Given the description of an element on the screen output the (x, y) to click on. 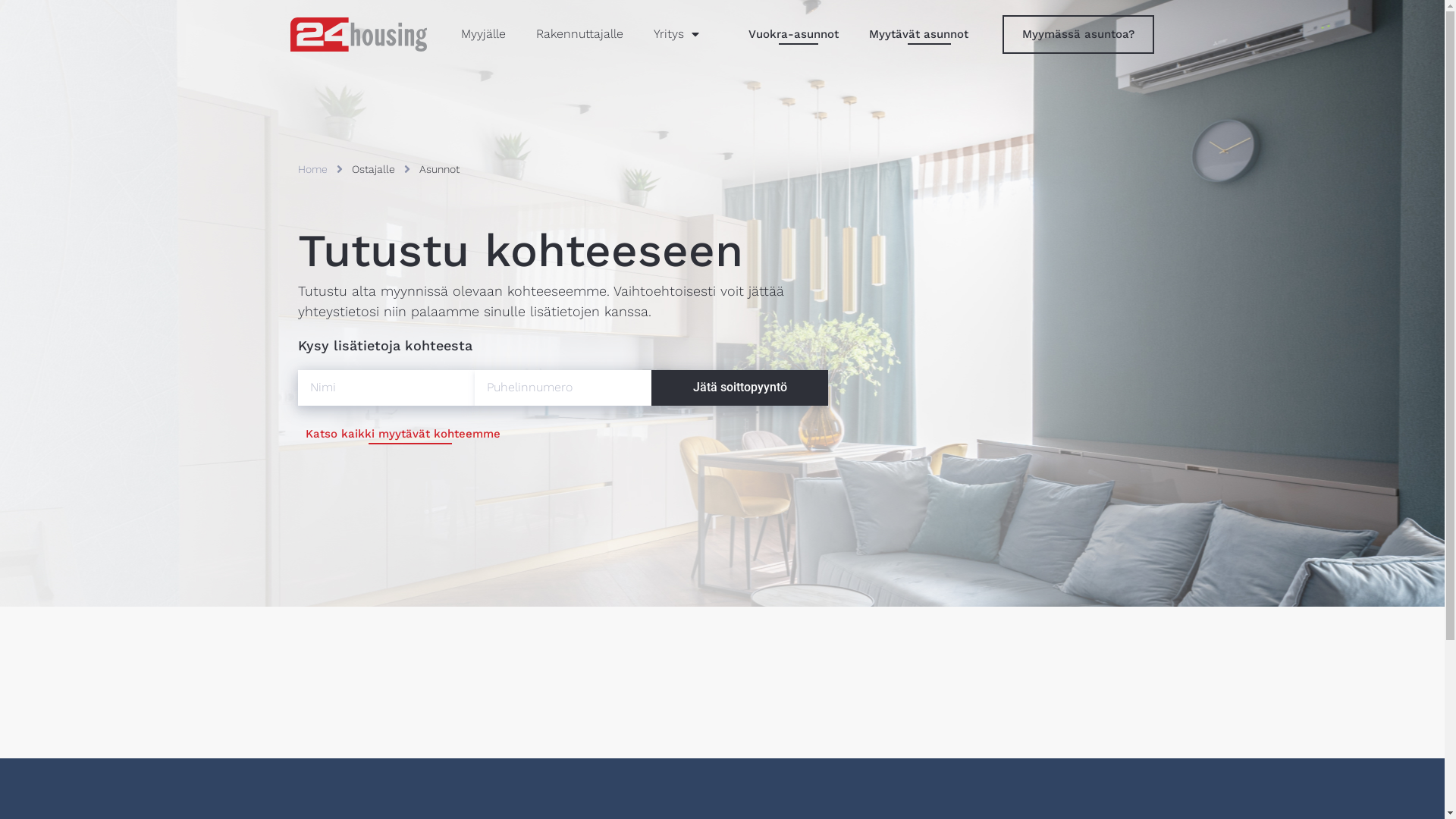
Home Element type: text (311, 169)
Rakennuttajalle Element type: text (579, 34)
Vuokra-asunnot Element type: text (790, 34)
Ostajalle Element type: text (373, 169)
Yritys Element type: text (676, 34)
